Given the description of an element on the screen output the (x, y) to click on. 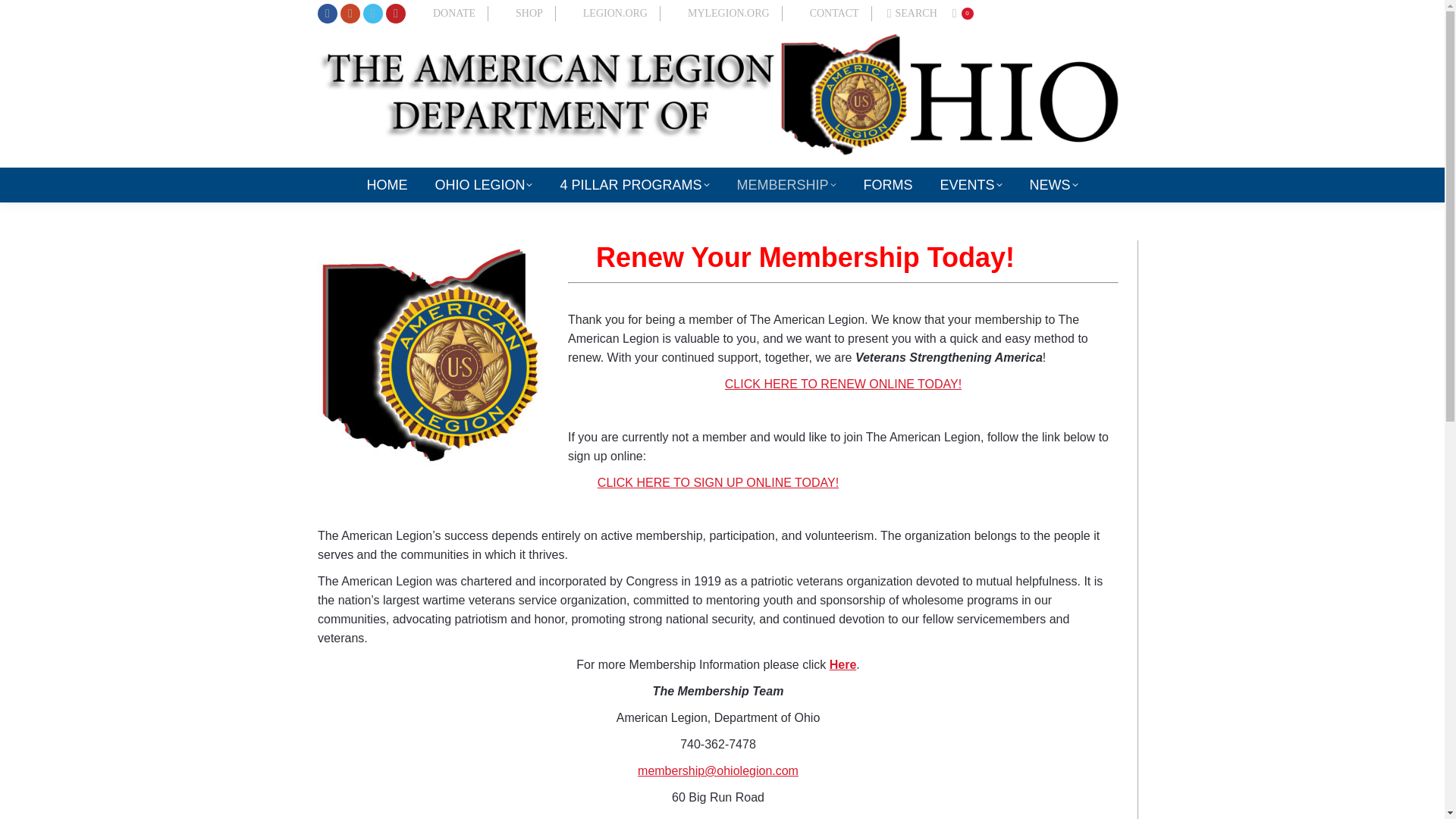
MYLEGION.ORG (728, 13)
X page opens in new window (372, 13)
SEARCH (911, 13)
OHIO LEGION (482, 184)
X page opens in new window (372, 13)
LEGION.ORG (615, 13)
CONTACT (834, 13)
Facebook page opens in new window (327, 13)
YouTube page opens in new window (395, 13)
YouTube page opens in new window (395, 13)
